Given the description of an element on the screen output the (x, y) to click on. 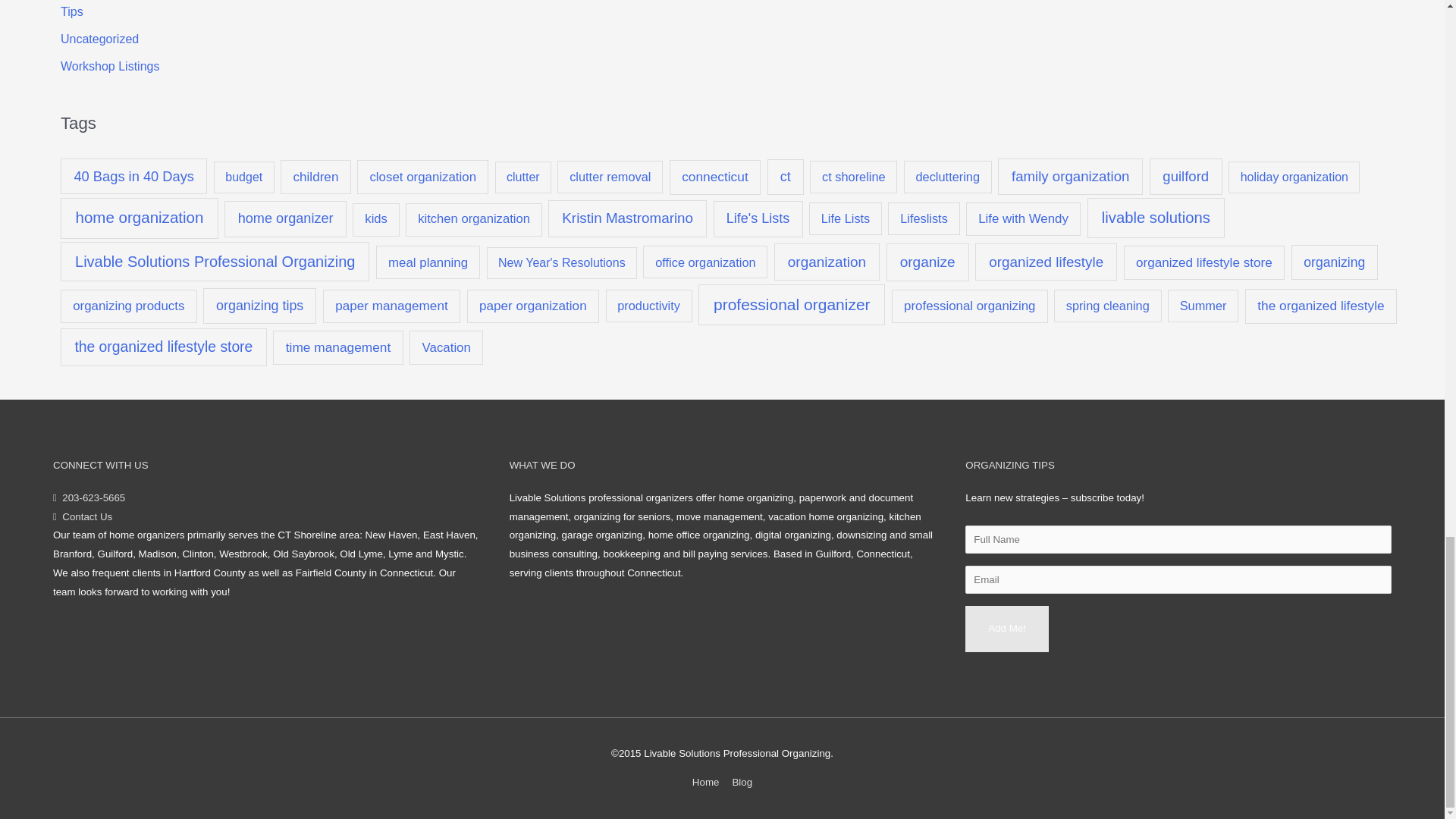
Add Me! (1006, 628)
